Given the description of an element on the screen output the (x, y) to click on. 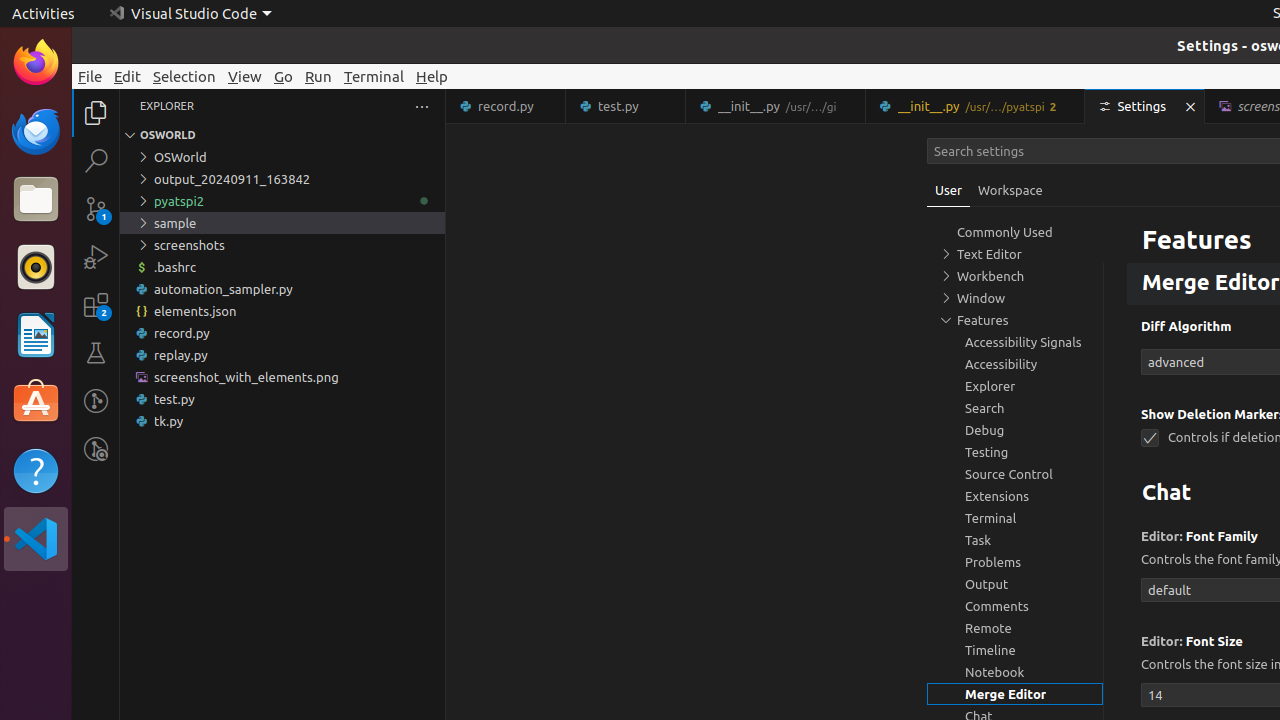
Run Element type: push-button (318, 76)
Source Control (Ctrl+Shift+G G) - 1 pending changes Source Control (Ctrl+Shift+G G) - 1 pending changes Element type: page-tab (96, 208)
GitLens Inspect Element type: page-tab (96, 449)
View Element type: push-button (245, 76)
interactiveWindow.showExecutionHint Element type: check-box (1150, 228)
